Given the description of an element on the screen output the (x, y) to click on. 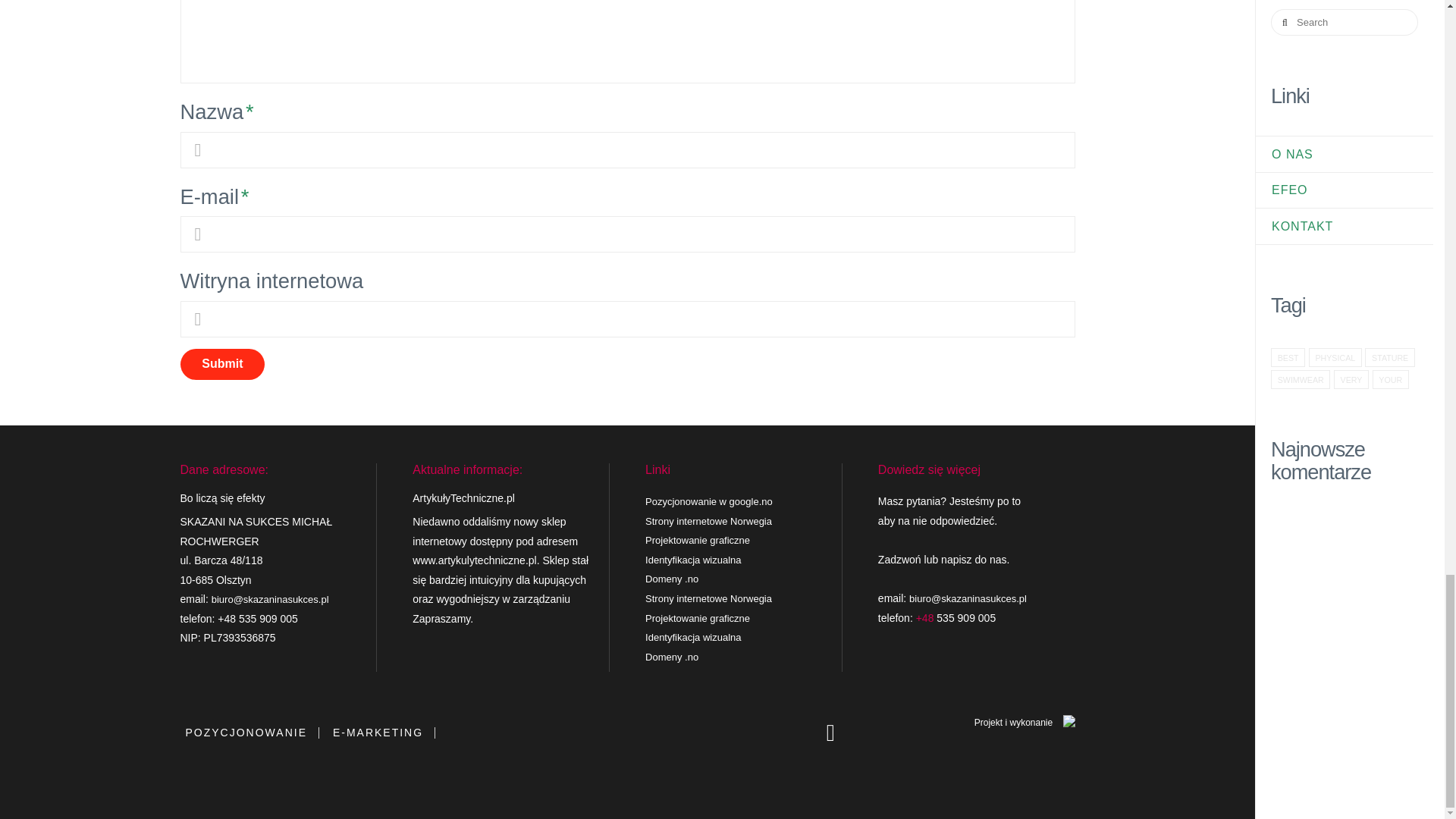
Submit (222, 364)
Domeny .no (671, 656)
Identyfikacja wizualna (693, 559)
Strony internetowe Norwegia (708, 598)
Projektowanie graficzne (697, 540)
Domeny .no (671, 578)
Submit (222, 364)
Pozycjonowanie w google.no (709, 501)
Identyfikacja wizualna (693, 636)
Projektowanie graficzne (697, 618)
Strony internetowe Norwegia (708, 521)
